Given the description of an element on the screen output the (x, y) to click on. 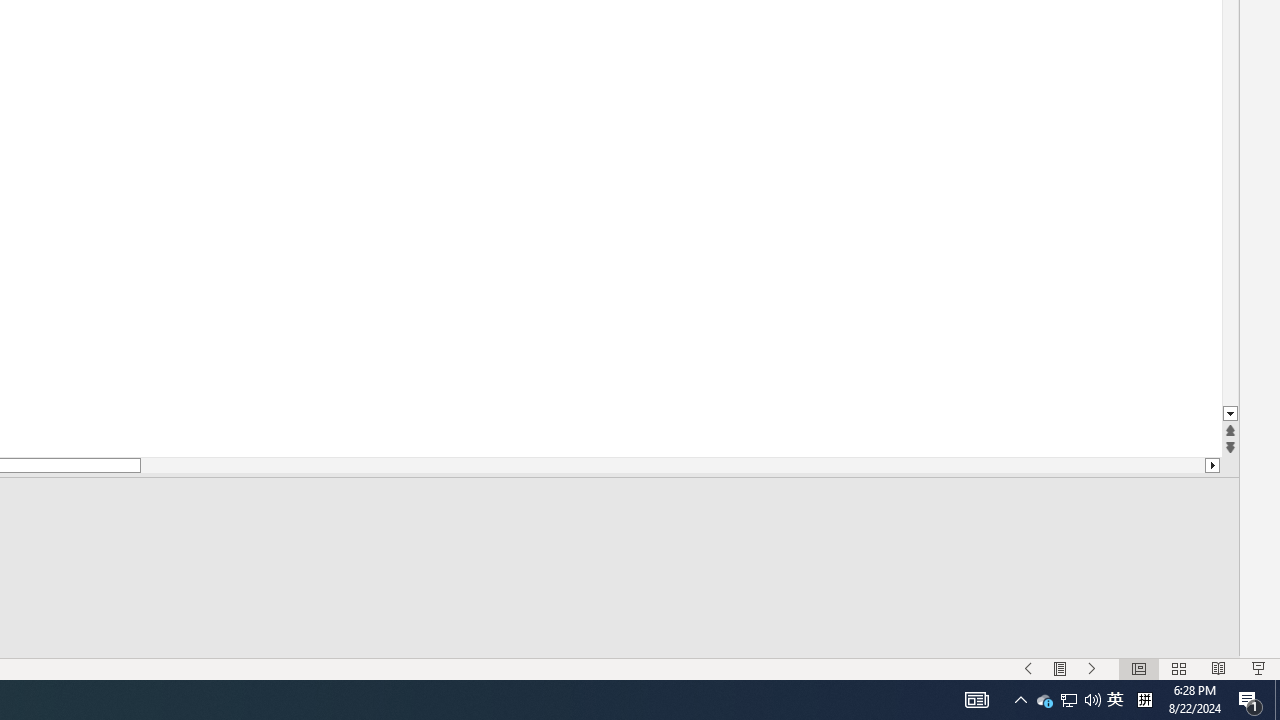
Slide Show Previous On (1028, 668)
